Given the description of an element on the screen output the (x, y) to click on. 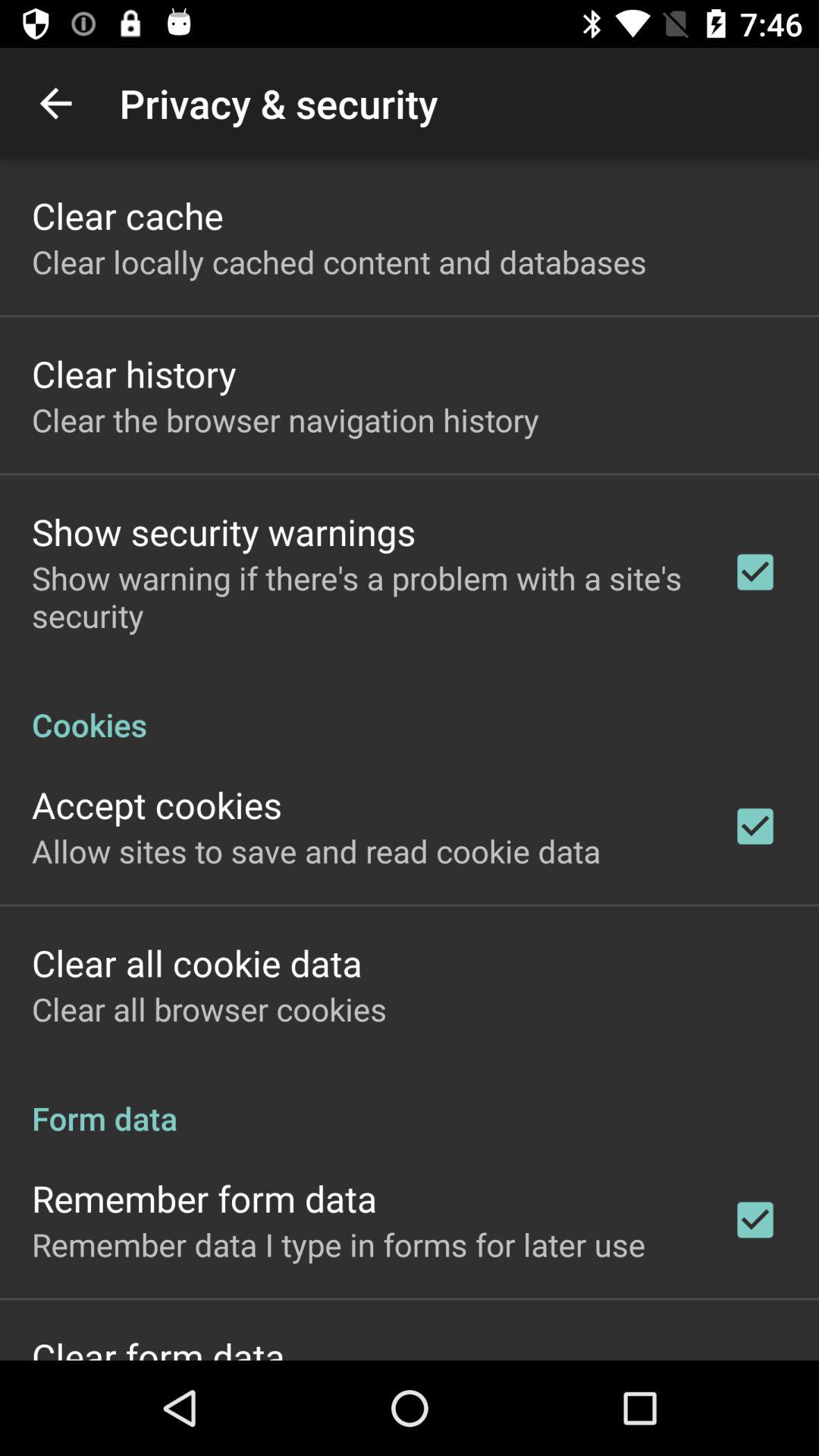
open item above clear history app (338, 261)
